Given the description of an element on the screen output the (x, y) to click on. 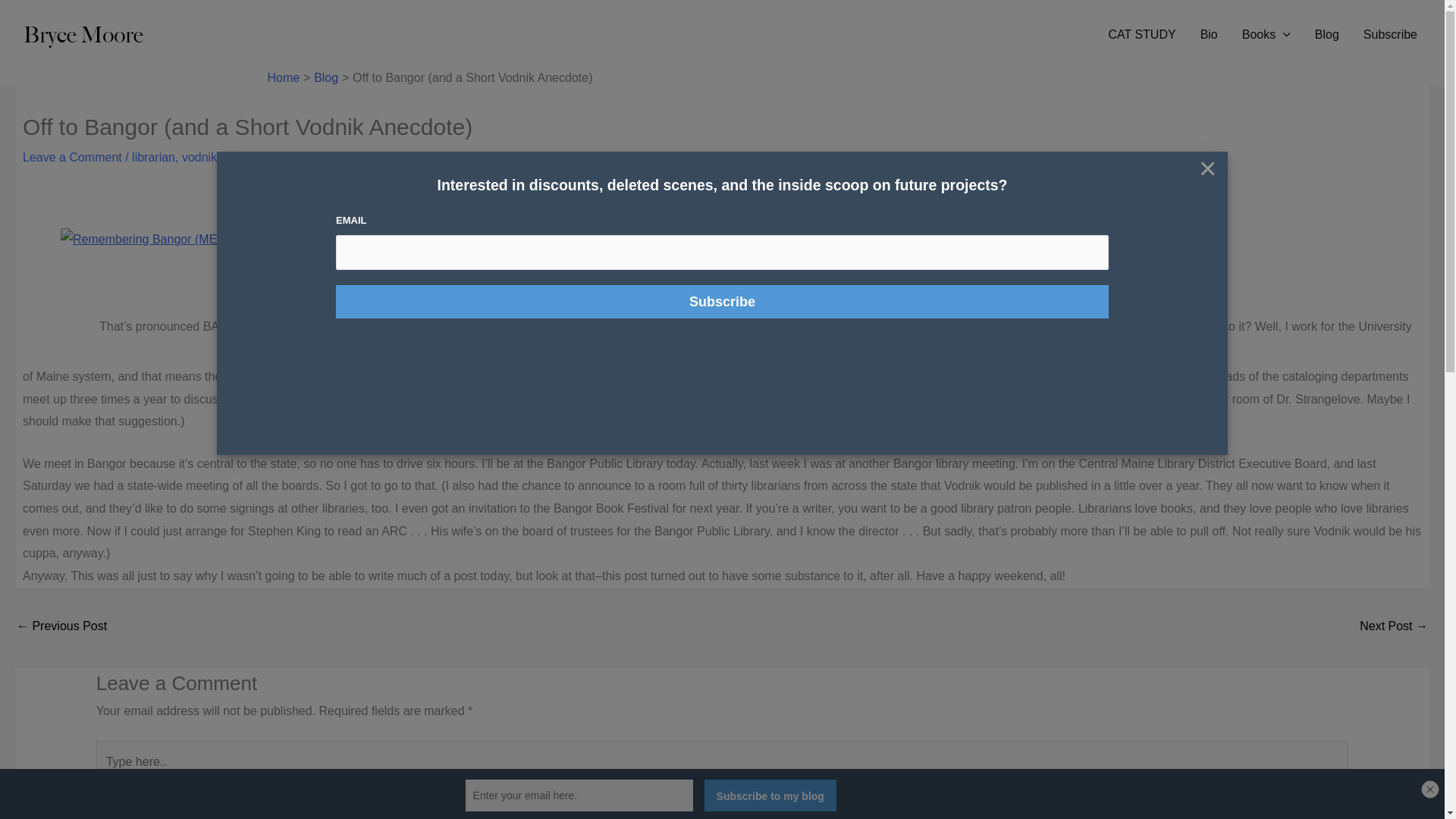
Home (282, 77)
Bio (1209, 34)
Books (1266, 34)
vodnik (199, 156)
Bryce Moore (279, 156)
View all posts by Bryce Moore (279, 156)
Subscribe to my blog (769, 795)
librarian (153, 156)
CAT STUDY (1142, 34)
How Did You Get Out of Debt? Or Are You Still in It? (61, 627)
Subscribe (722, 301)
Leave a Comment (72, 156)
Blog (1327, 34)
Blog (325, 77)
Writing a Murder Mystery (1393, 627)
